Given the description of an element on the screen output the (x, y) to click on. 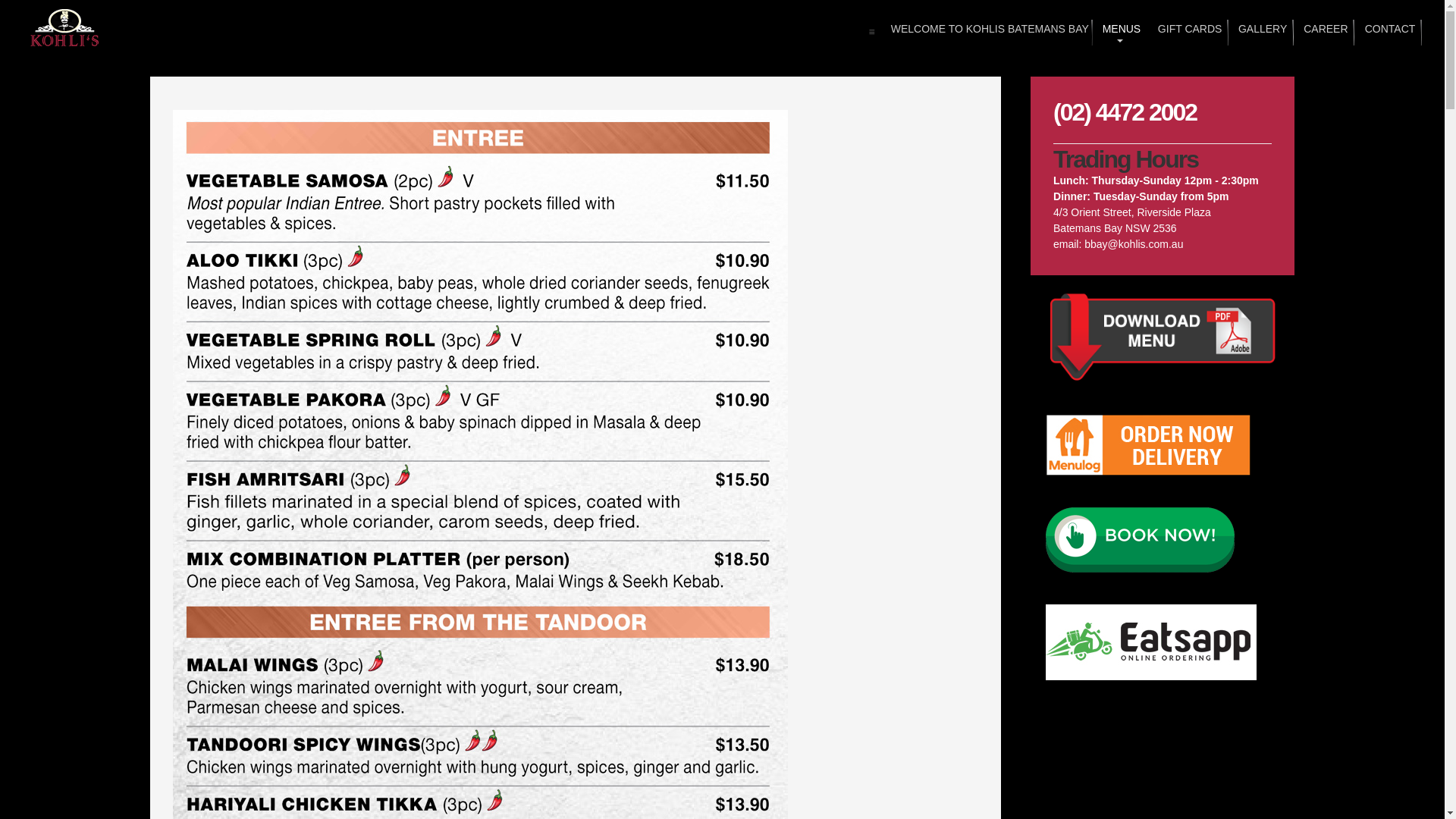
GIFT CARDS Element type: text (1187, 32)
CAREER Element type: text (1324, 32)
GALLERY Element type: text (1260, 32)
(02) 4472 2002 Element type: text (1124, 111)
CONTACT Element type: text (1388, 32)
WELCOME TO KOHLIS BATEMANS BAY Element type: text (985, 32)
MENUS Element type: text (1120, 32)
kohlis.com.au Element type: text (65, 28)
bbay@kohlis.com.au Element type: text (1133, 244)
